Given the description of an element on the screen output the (x, y) to click on. 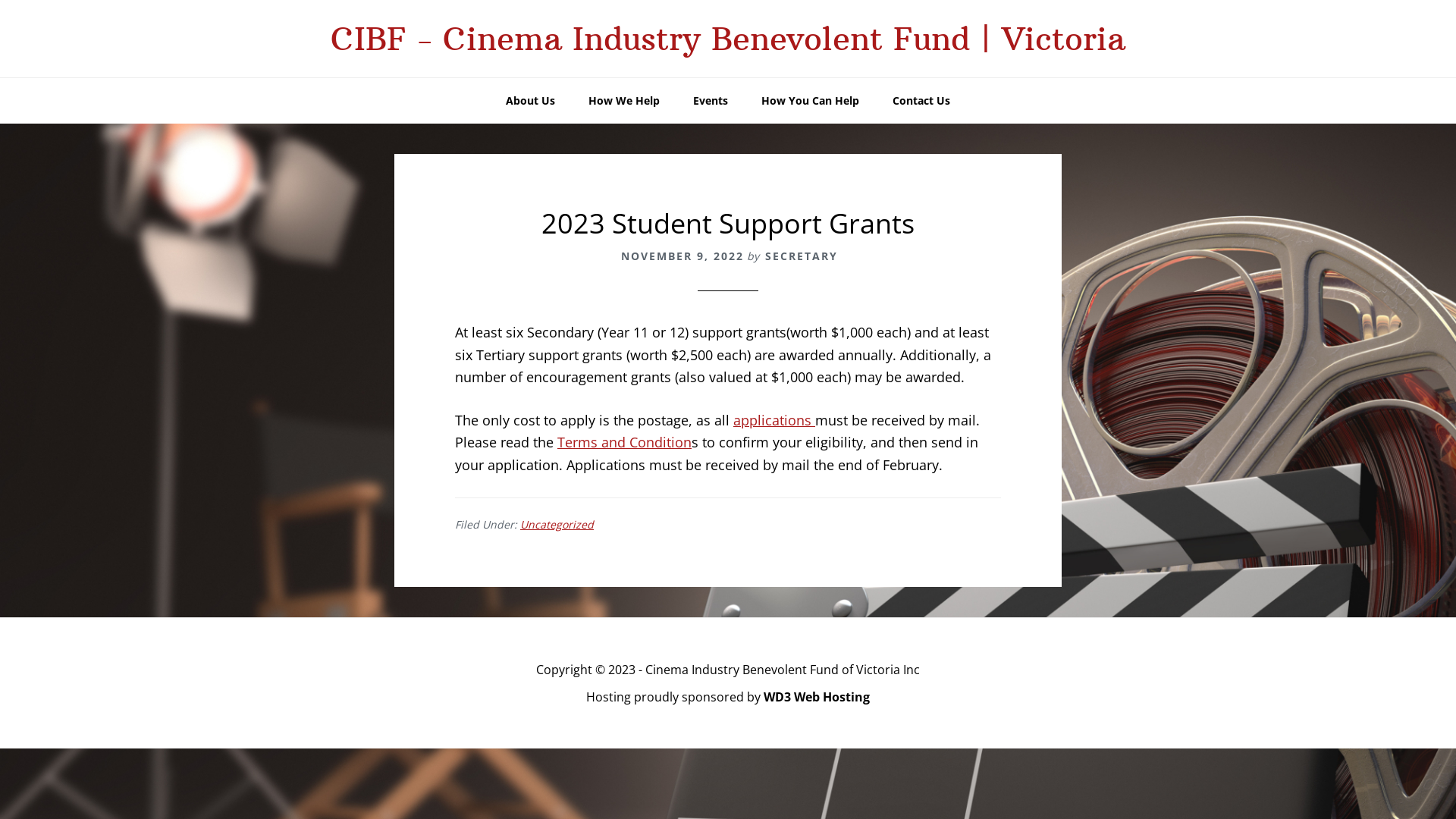
WD3 Web Hosting Element type: text (816, 696)
Contact Us Element type: text (921, 100)
Skip to primary navigation Element type: text (0, 0)
How We Help Element type: text (623, 100)
How You Can Help Element type: text (810, 100)
About Us Element type: text (530, 100)
Terms and Condition Element type: text (624, 442)
SECRETARY Element type: text (801, 255)
applications Element type: text (774, 420)
CIBF - Cinema Industry Benevolent Fund | Victoria Element type: text (727, 38)
Uncategorized Element type: text (556, 524)
Events Element type: text (710, 100)
2023 Student Support Grants Element type: text (727, 222)
